Given the description of an element on the screen output the (x, y) to click on. 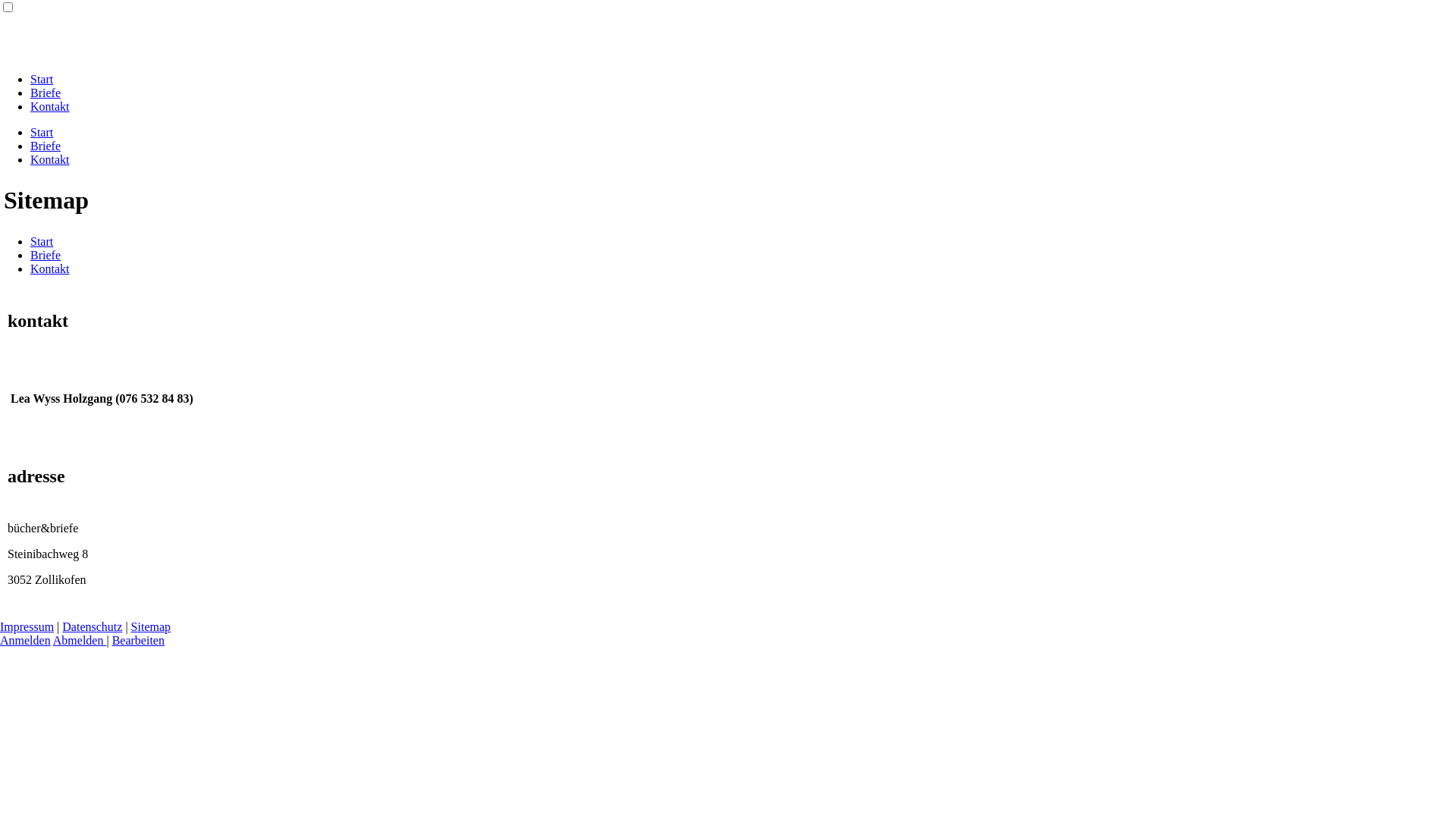
Bearbeiten Element type: text (138, 639)
Briefe Element type: text (45, 92)
Datenschutz Element type: text (92, 626)
Kontakt Element type: text (49, 268)
Start Element type: text (41, 78)
Abmelden Element type: text (79, 639)
Briefe Element type: text (45, 145)
Start Element type: text (41, 241)
Kontakt Element type: text (49, 106)
Sitemap Element type: text (150, 626)
Impressum Element type: text (26, 626)
Briefe Element type: text (45, 254)
Kontakt Element type: text (49, 159)
Anmelden Element type: text (25, 639)
Start Element type: text (41, 131)
